Given the description of an element on the screen output the (x, y) to click on. 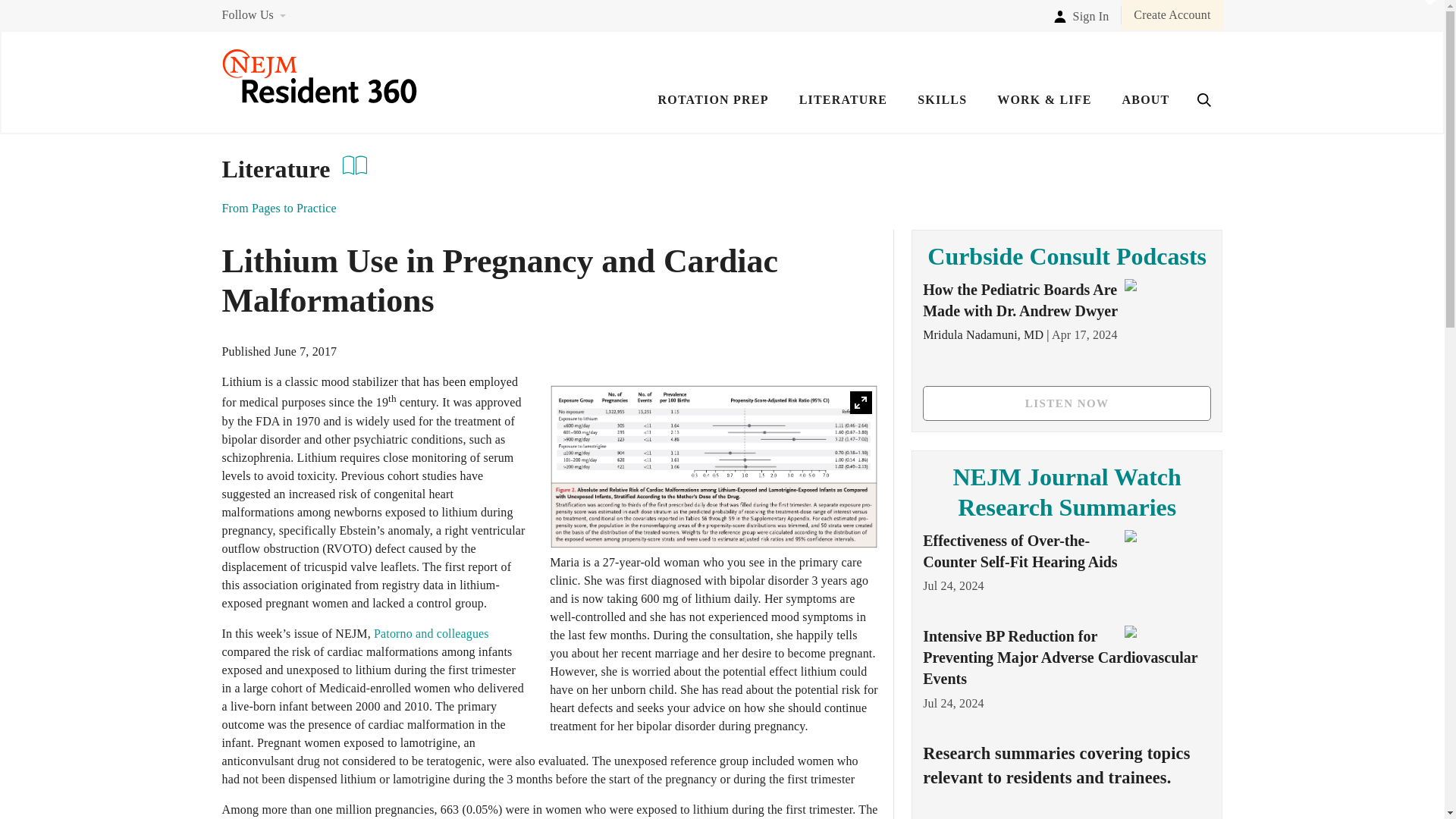
LITERATURE (843, 110)
Effectiveness of Over-the-Counter Self-Fit Hearing Aids (1019, 551)
SKILLS (941, 110)
How the Pediatric Boards Are Made with Dr. Andrew Dwyer (1020, 300)
ROTATION PREP (713, 110)
Follow Us (247, 14)
Sign In (1081, 14)
NEJM Resident 360 (318, 98)
ABOUT (1146, 110)
Patorno and colleagues (431, 633)
LISTEN NOW (1067, 402)
